Given the description of an element on the screen output the (x, y) to click on. 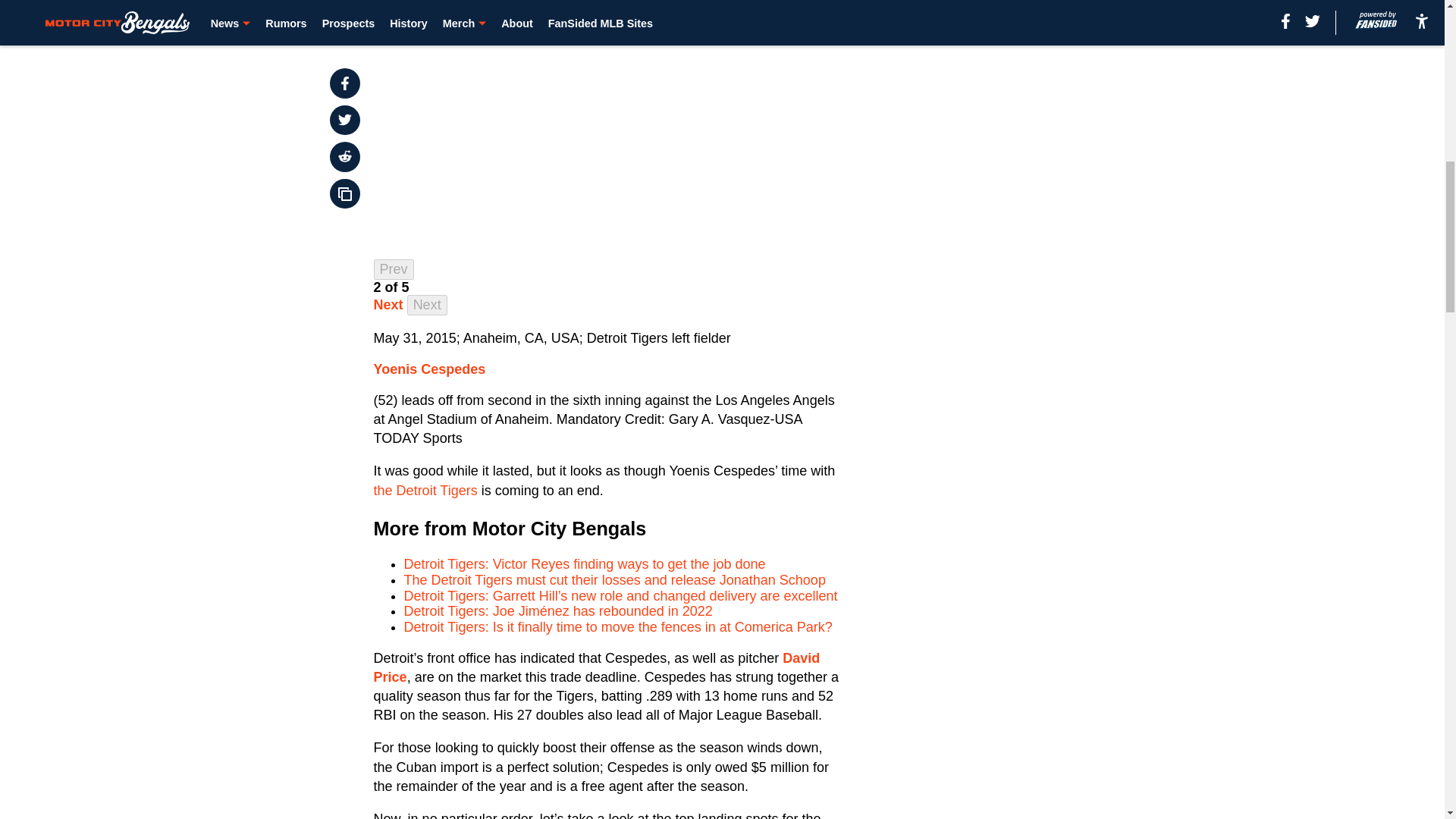
Yoenis Cespedes (430, 368)
Next (388, 304)
the Detroit Tigers (425, 490)
Prev (393, 269)
Next (426, 304)
